Given the description of an element on the screen output the (x, y) to click on. 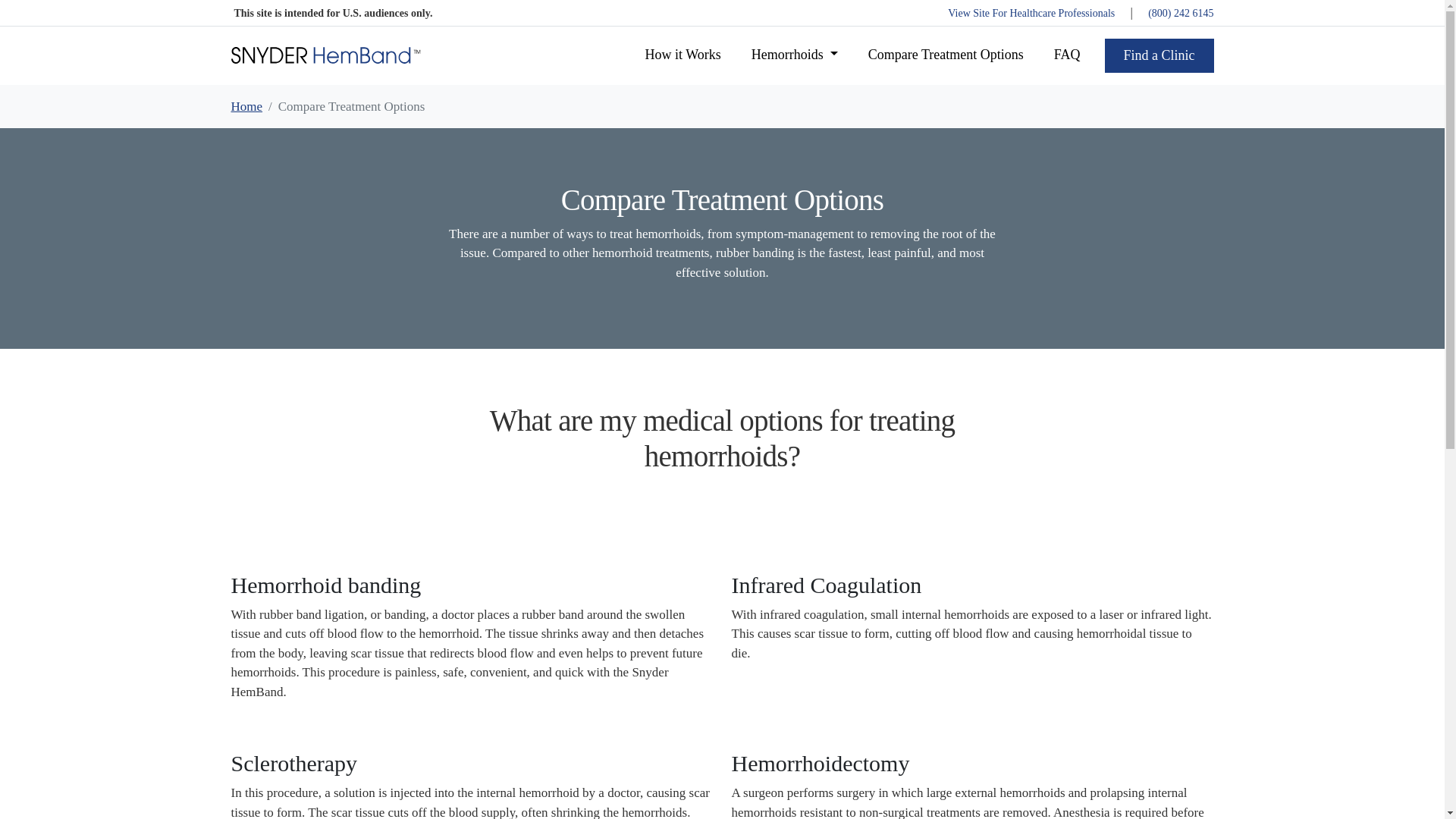
Hemorrhoids (794, 55)
Find a Clinic (1157, 54)
Compare Treatment Options (945, 55)
View Site For Healthcare Professionals (1031, 12)
Home (246, 105)
FAQ (1067, 55)
How it Works (682, 55)
